Given the description of an element on the screen output the (x, y) to click on. 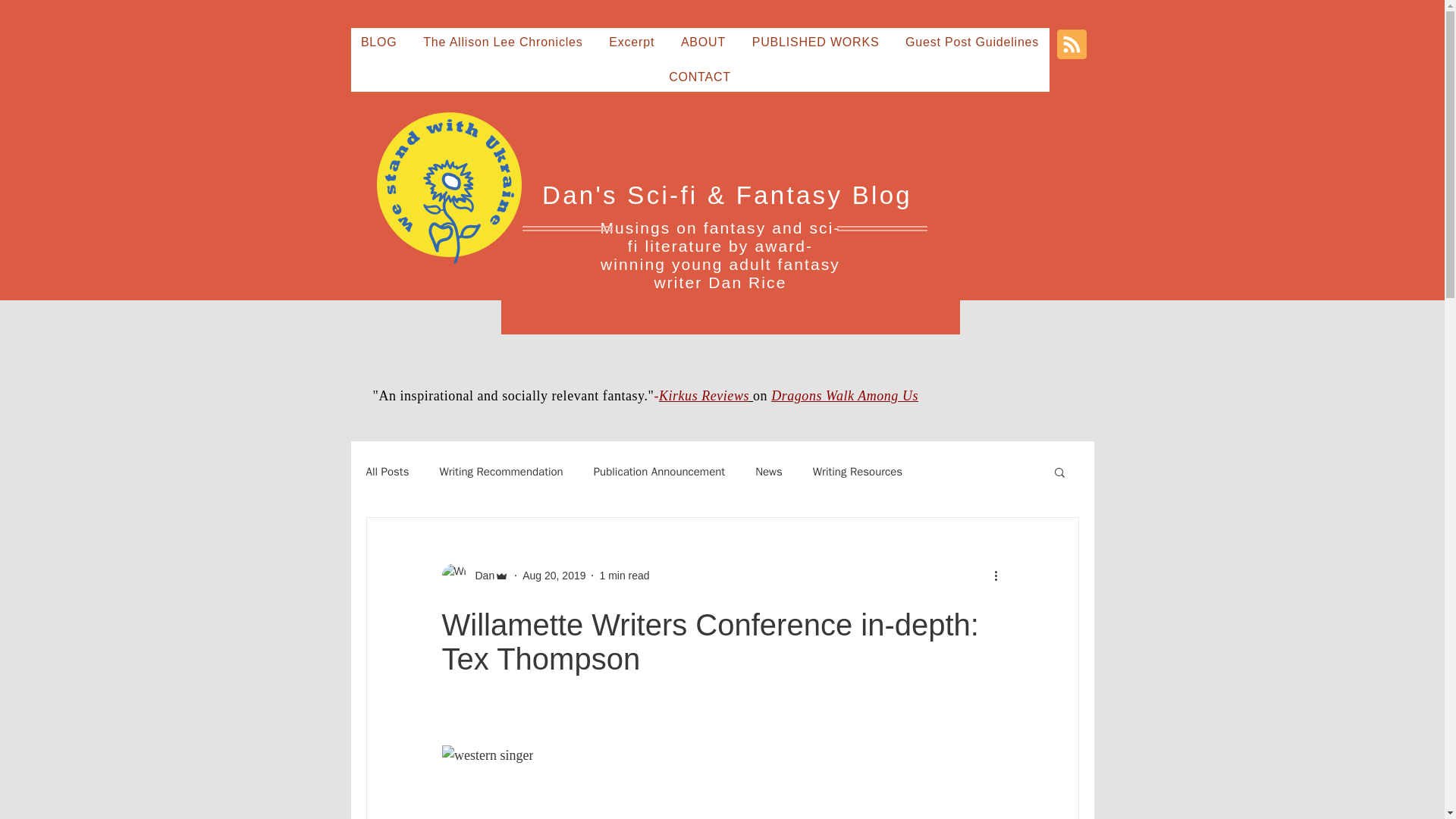
Kirkus Reviews  (705, 395)
ABOUT (703, 41)
1 min read (623, 574)
Aug 20, 2019 (553, 574)
Dragons Walk Among Us (844, 395)
Dan (480, 575)
All Posts (387, 471)
CONTACT (699, 77)
The Allison Lee Chronicles (502, 41)
News (769, 471)
